Given the description of an element on the screen output the (x, y) to click on. 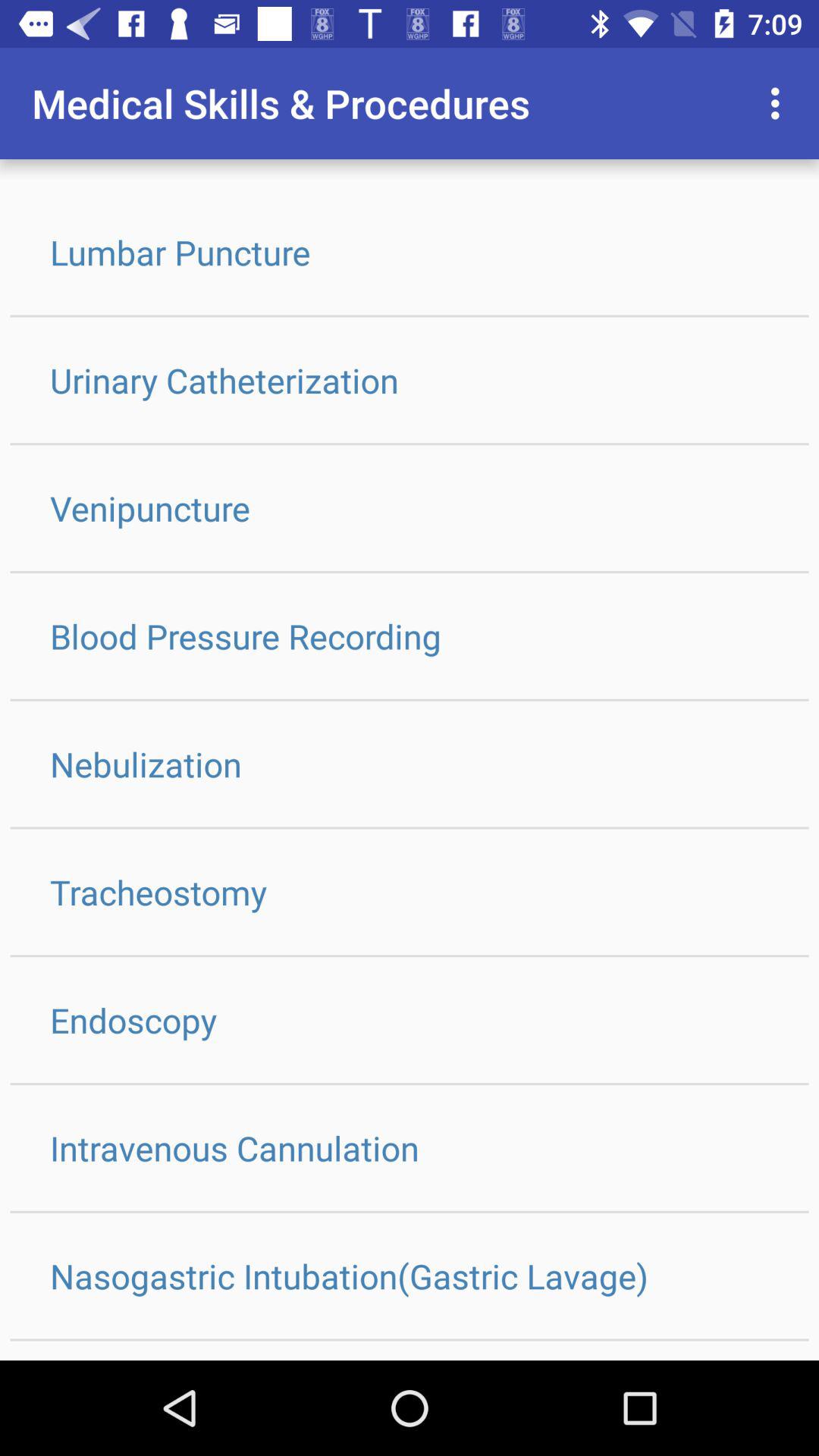
scroll until nebulization (409, 763)
